Given the description of an element on the screen output the (x, y) to click on. 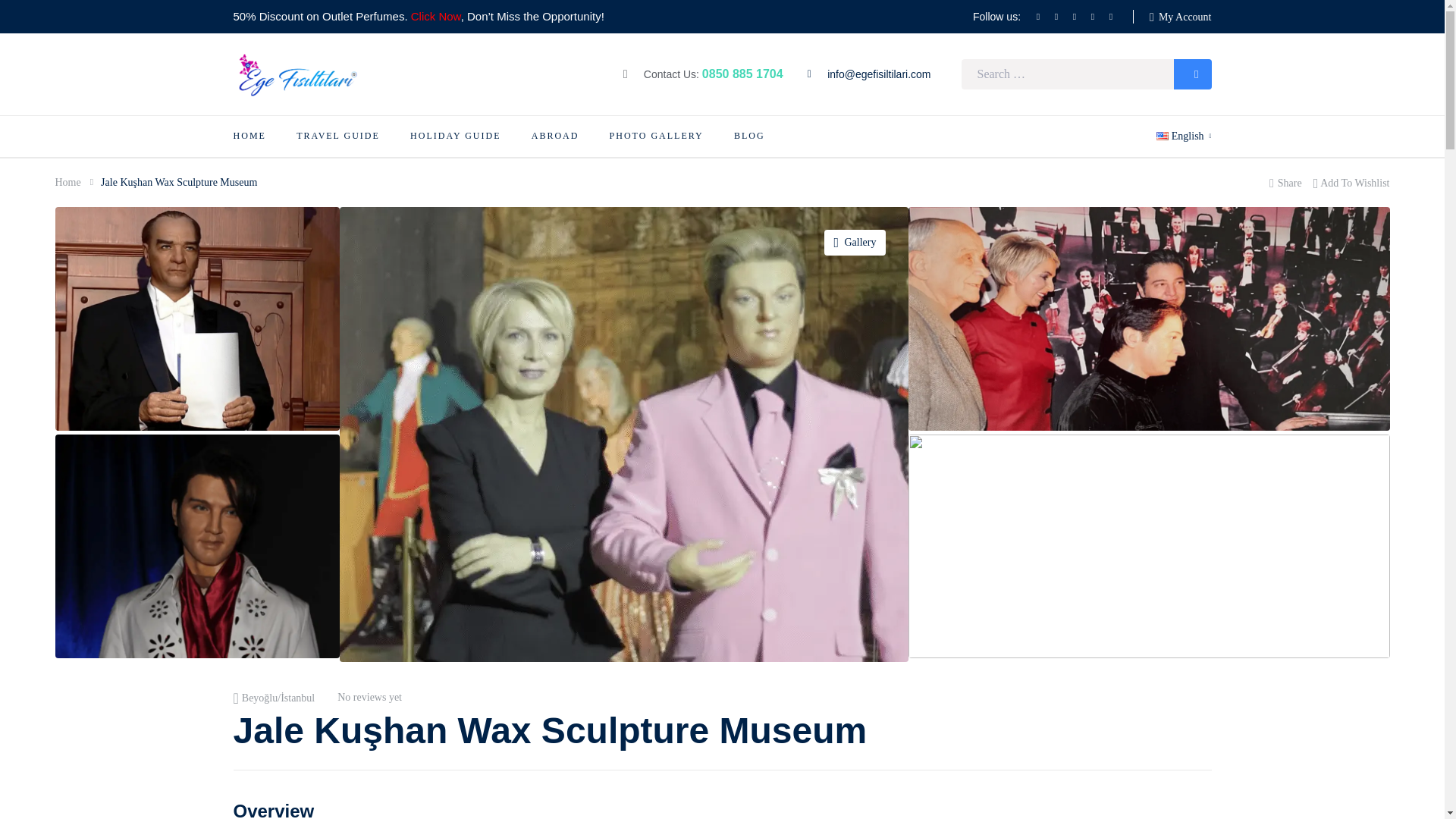
Gallery (855, 242)
Home (67, 182)
Top (1420, 790)
Please login account (1351, 182)
PHOTO GALLERY (656, 136)
TRAVEL GUIDE (338, 136)
ABROAD (555, 136)
Share (1285, 182)
HOLIDAY GUIDE (455, 136)
Click Now (435, 15)
My Account (1180, 17)
Contact Us: 0850 885 1704 (703, 74)
Add To Wishlist (1351, 182)
Search (1192, 73)
English (1183, 136)
